Given the description of an element on the screen output the (x, y) to click on. 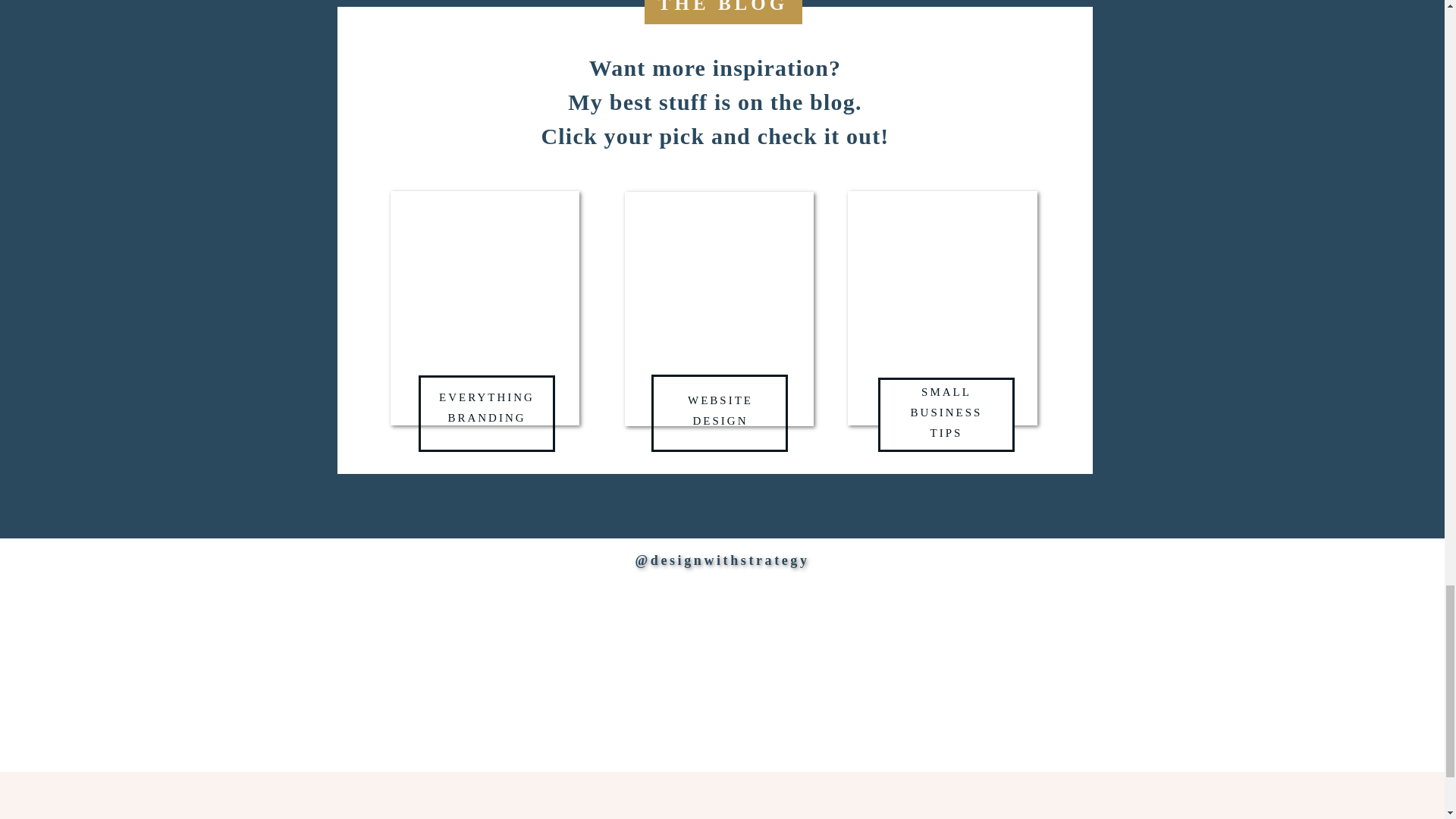
SMALL BUSINESS TIPS (945, 414)
THE BLOG (722, 12)
EVERYTHING BRANDING (486, 414)
